Given the description of an element on the screen output the (x, y) to click on. 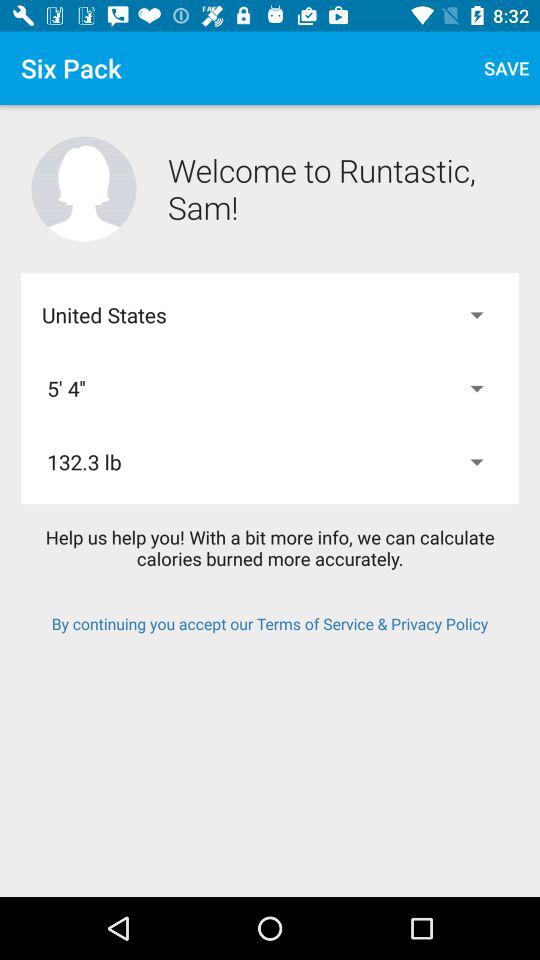
click by continuing you icon (270, 623)
